Given the description of an element on the screen output the (x, y) to click on. 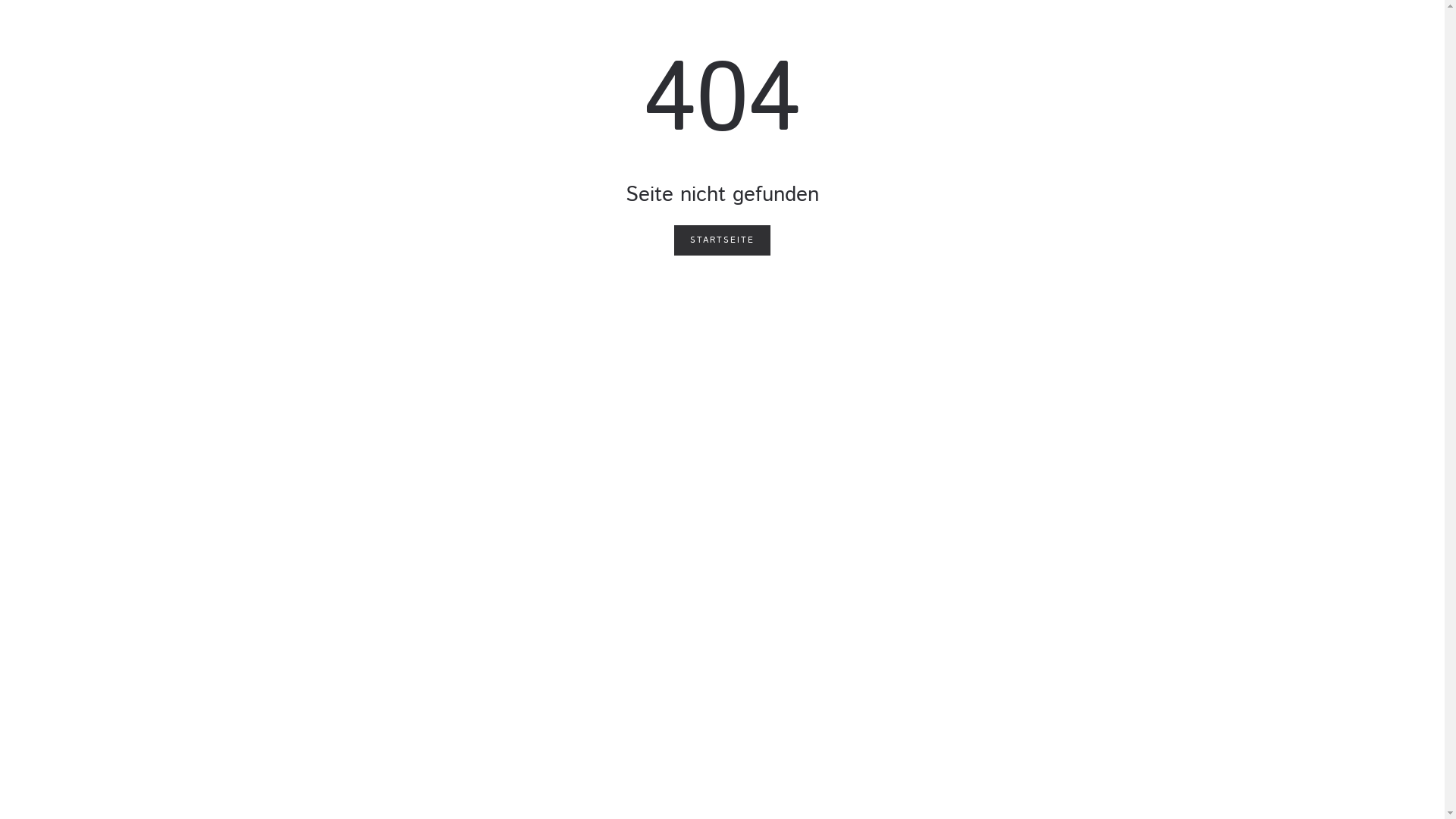
STARTSEITE Element type: text (722, 240)
